Given the description of an element on the screen output the (x, y) to click on. 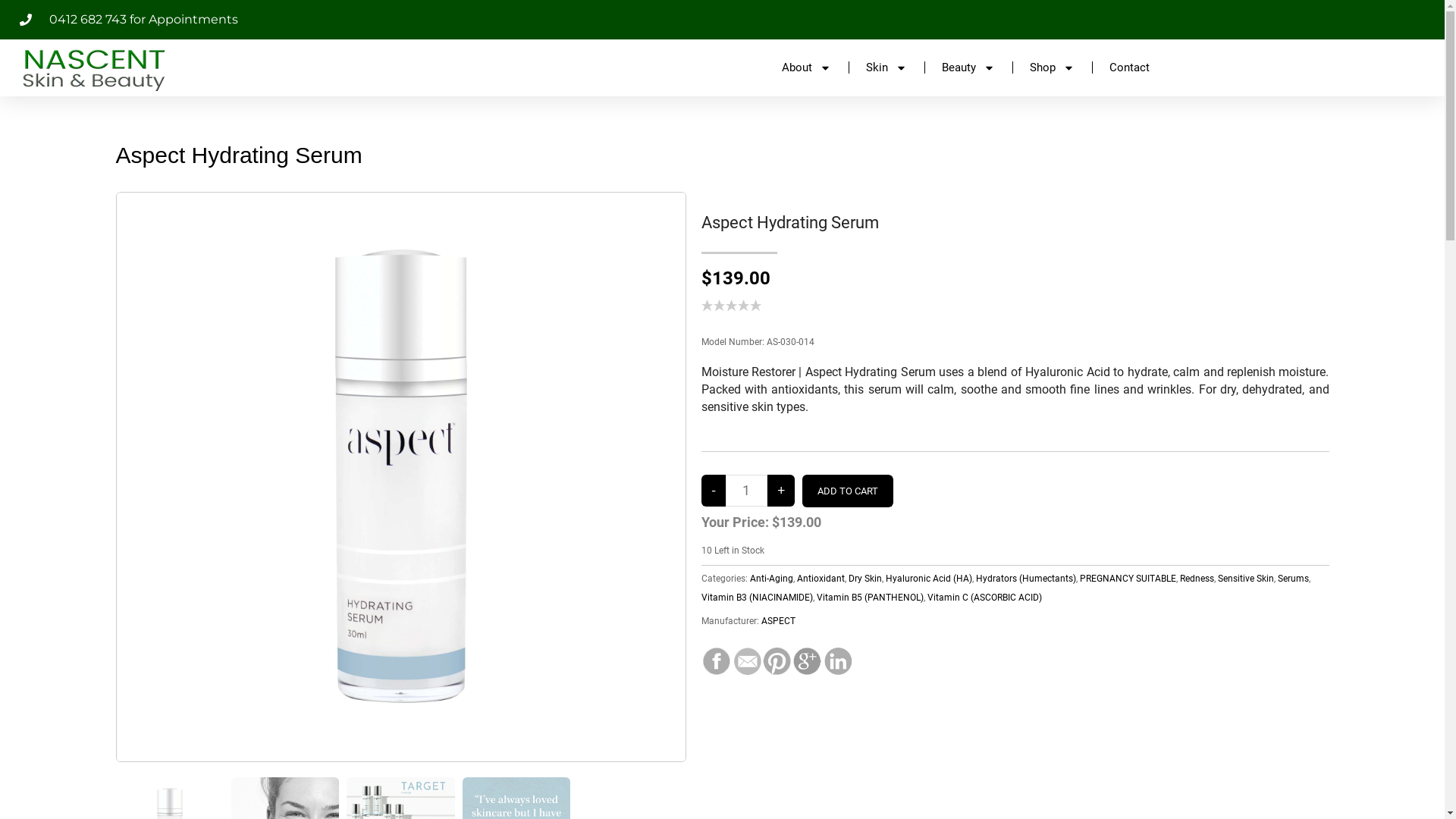
Vitamin C (ASCORBIC ACID) Element type: text (983, 597)
Skin Element type: text (886, 67)
Anti-Aging Element type: text (770, 578)
Antioxidant Element type: text (820, 578)
Hyaluronic Acid (HA) Element type: text (928, 578)
Redness Element type: text (1196, 578)
Hydrators (Humectants) Element type: text (1025, 578)
ASPECT Element type: text (778, 620)
Contact Element type: text (1129, 67)
Vitamin B5 (PANTHENOL) Element type: text (868, 597)
Serums Element type: text (1292, 578)
Beauty Element type: text (968, 67)
Shop Element type: text (1051, 67)
Vitamin B3 (NIACINAMIDE) Element type: text (756, 597)
PREGNANCY SUITABLE Element type: text (1127, 578)
ADD TO CART Element type: text (847, 491)
Sensitive Skin Element type: text (1245, 578)
Dry Skin Element type: text (864, 578)
About Element type: text (806, 67)
